Given the description of an element on the screen output the (x, y) to click on. 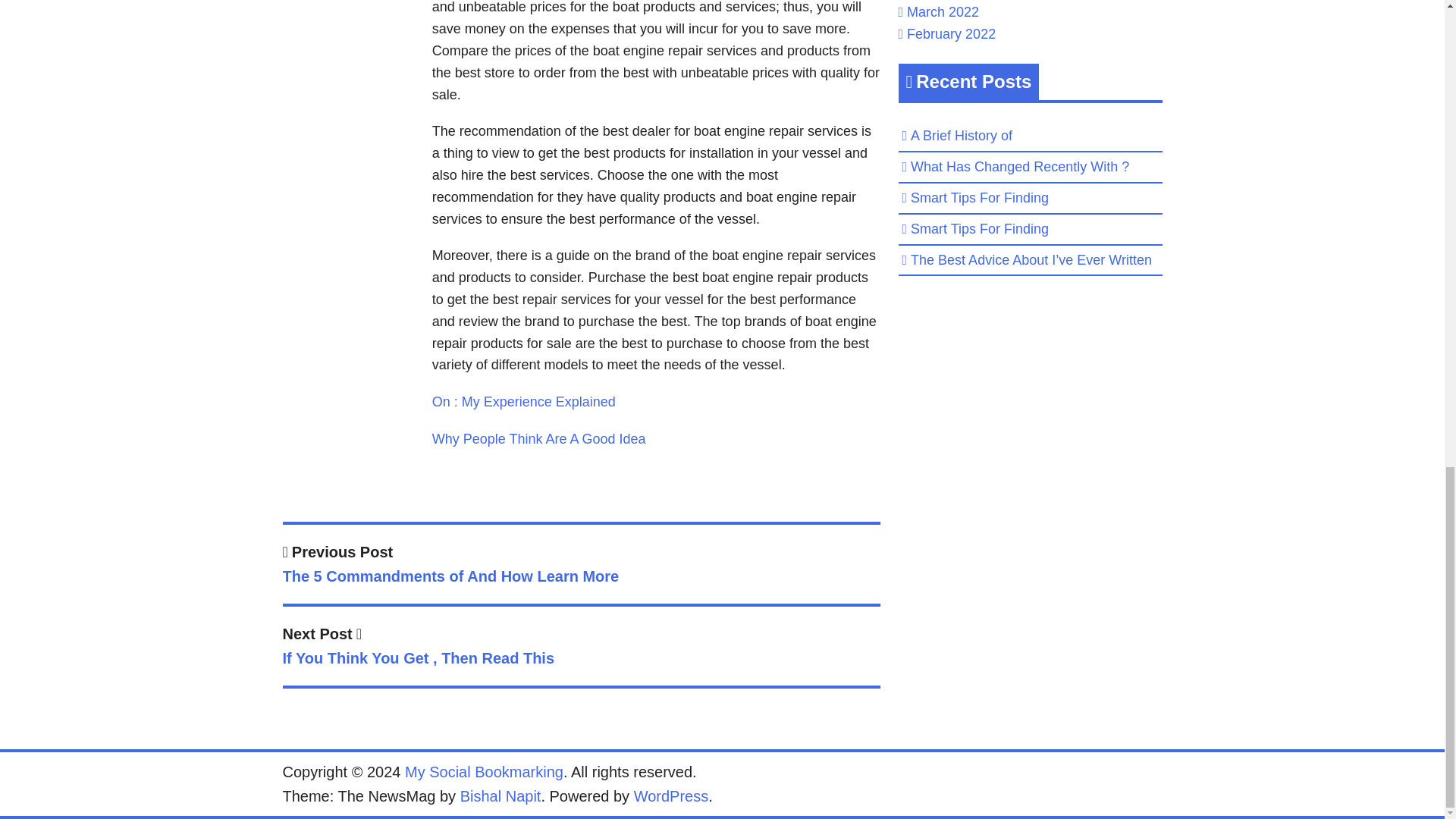
My Social Bookmarking (483, 771)
Bishal Napit (500, 795)
WordPress (581, 648)
Why People Think Are A Good Idea (671, 795)
On : My Experience Explained (539, 438)
